Given the description of an element on the screen output the (x, y) to click on. 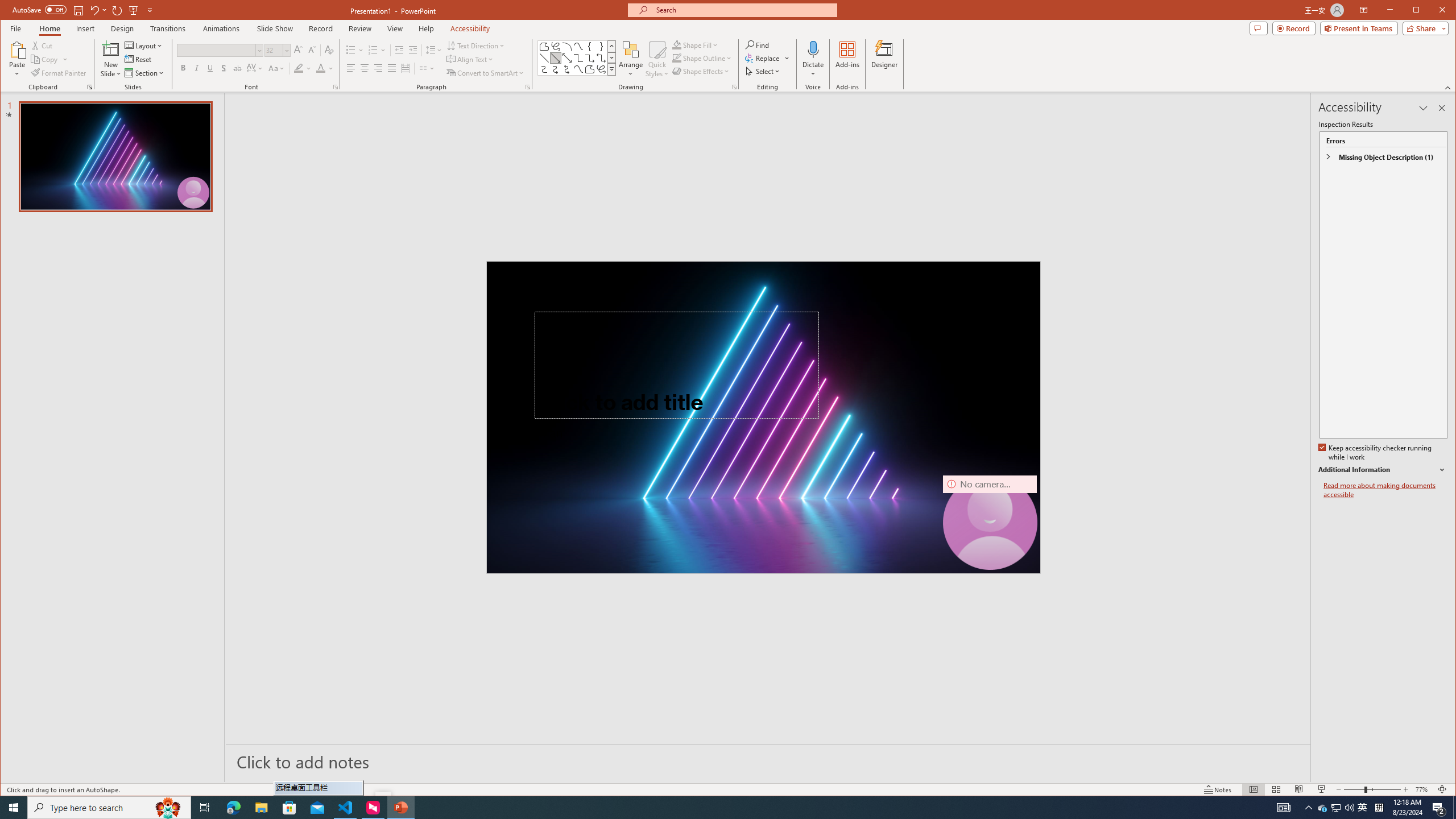
Zoom 77% (1422, 789)
Connector: Elbow Double-Arrow (601, 57)
